Given the description of an element on the screen output the (x, y) to click on. 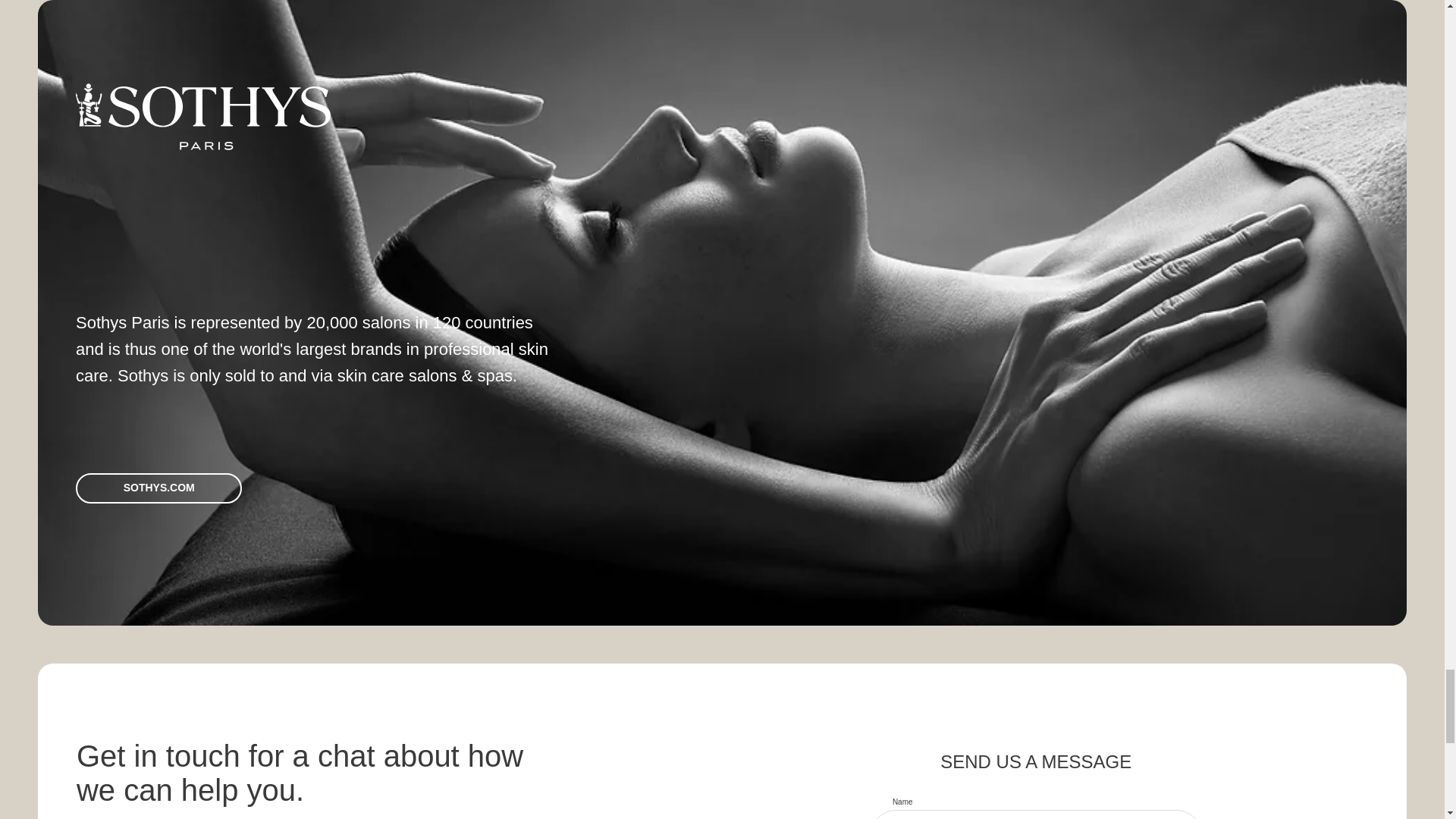
SOTHYS.COM (158, 488)
